Given the description of an element on the screen output the (x, y) to click on. 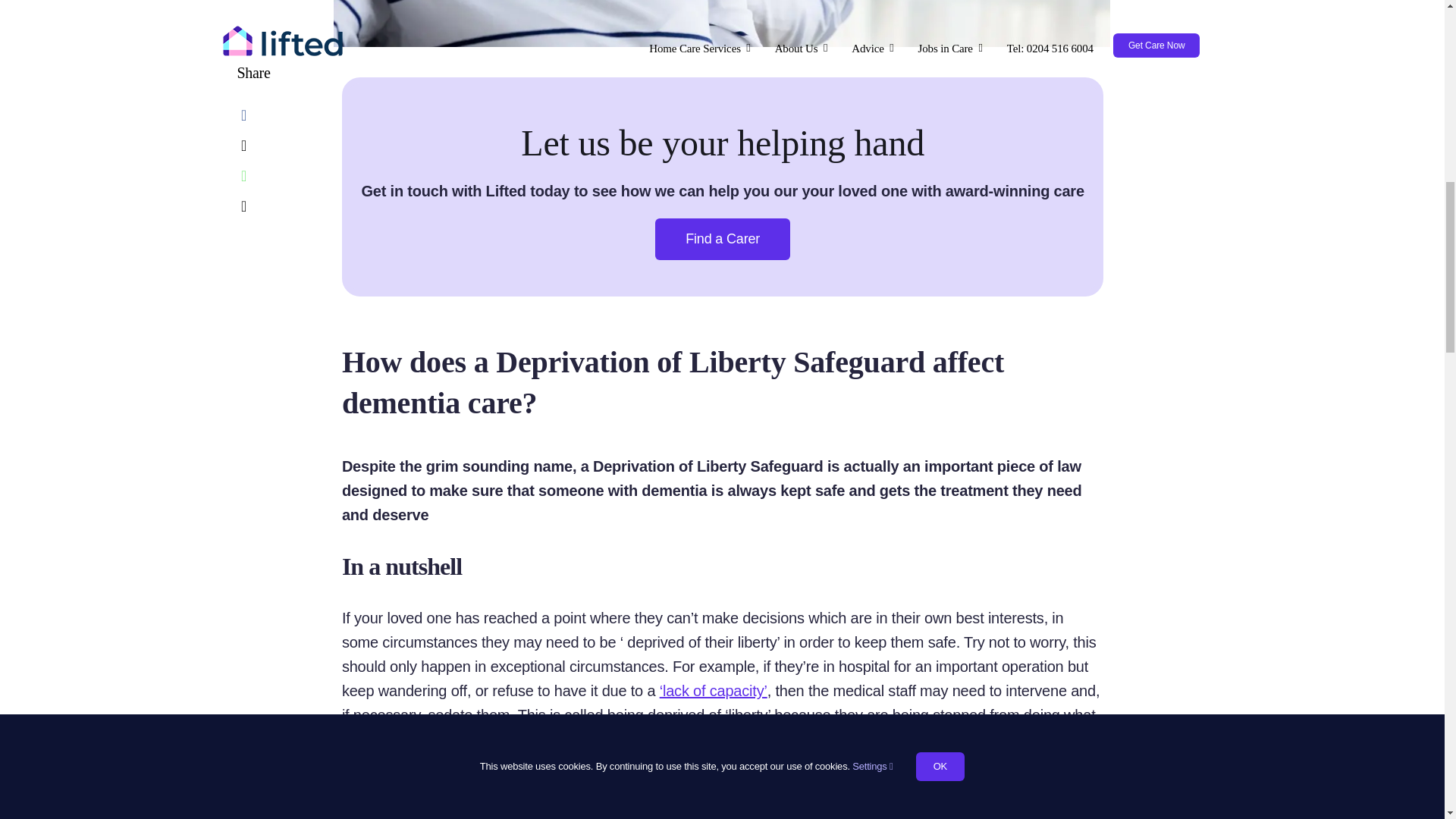
How do you know if someone has lost their mental capacity? (713, 690)
